Given the description of an element on the screen output the (x, y) to click on. 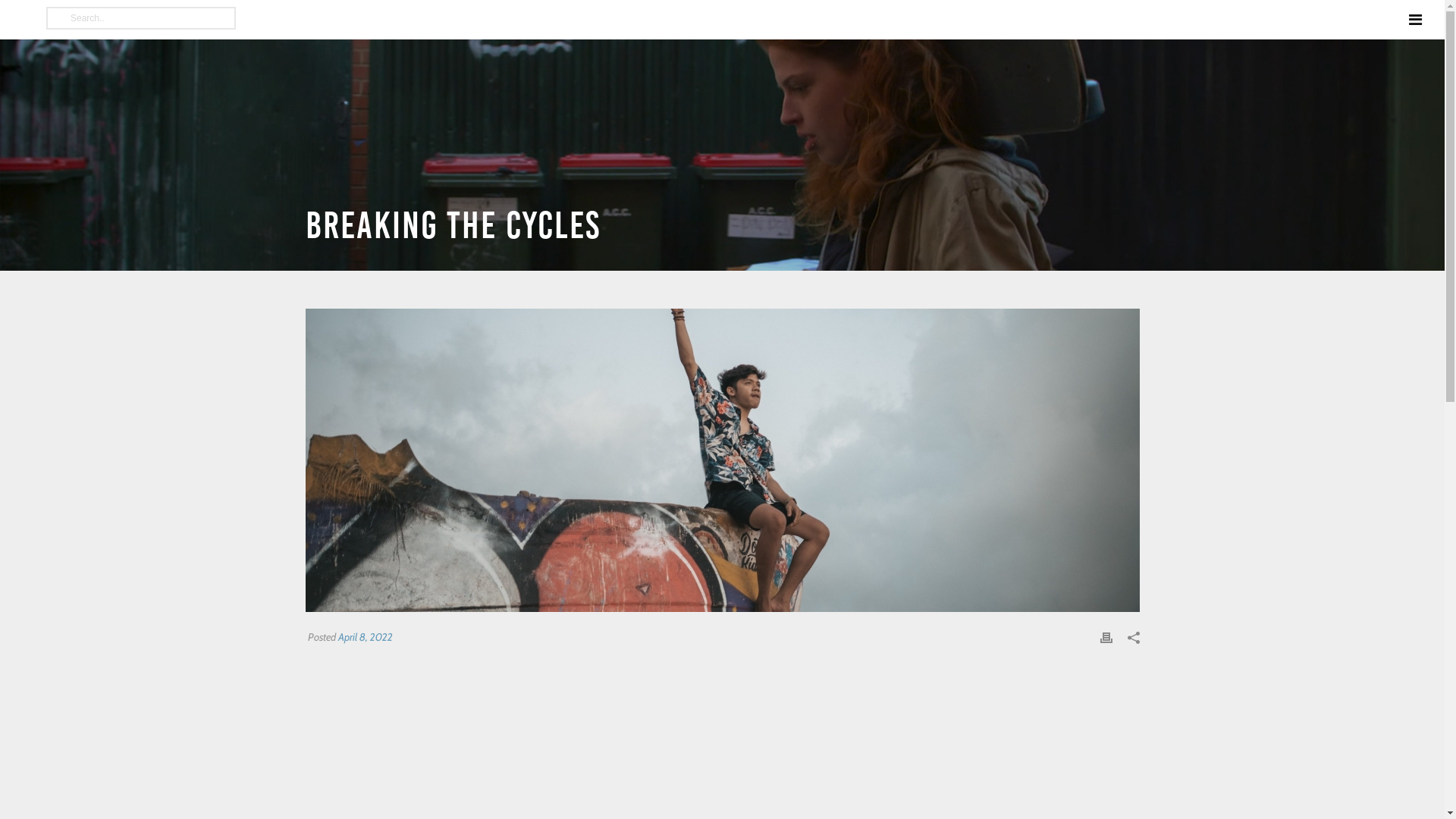
  Element type: text (721, 459)
Print Element type: hover (1105, 637)
Breaking the Cycles Element type: hover (721, 459)
April 8, 2022 Element type: text (365, 636)
